Given the description of an element on the screen output the (x, y) to click on. 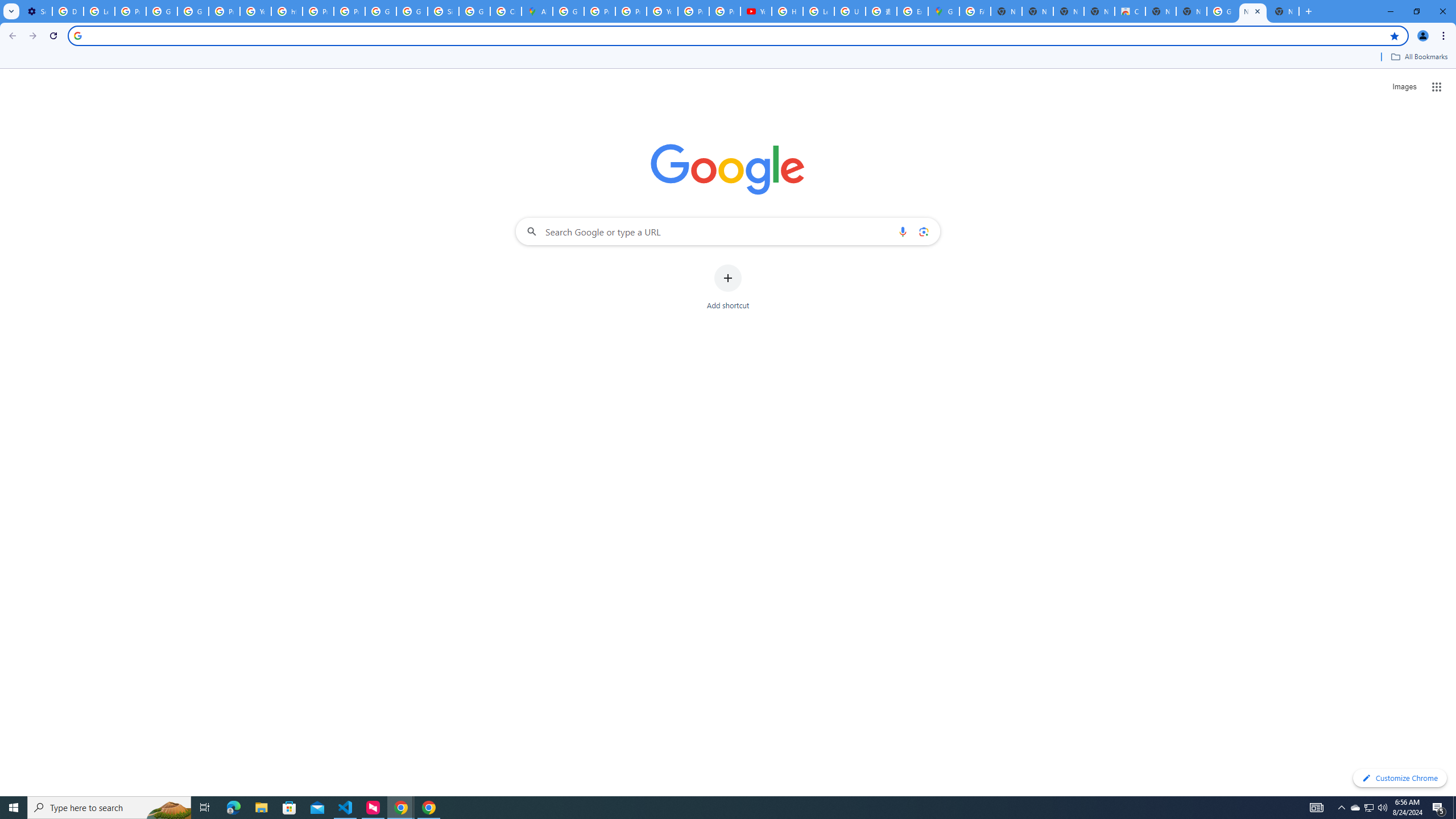
Google Images (1222, 11)
How Chrome protects your passwords - Google Chrome Help (787, 11)
Privacy Help Center - Policies Help (631, 11)
Privacy Help Center - Policies Help (318, 11)
YouTube (255, 11)
Delete photos & videos - Computer - Google Photos Help (67, 11)
